Given the description of an element on the screen output the (x, y) to click on. 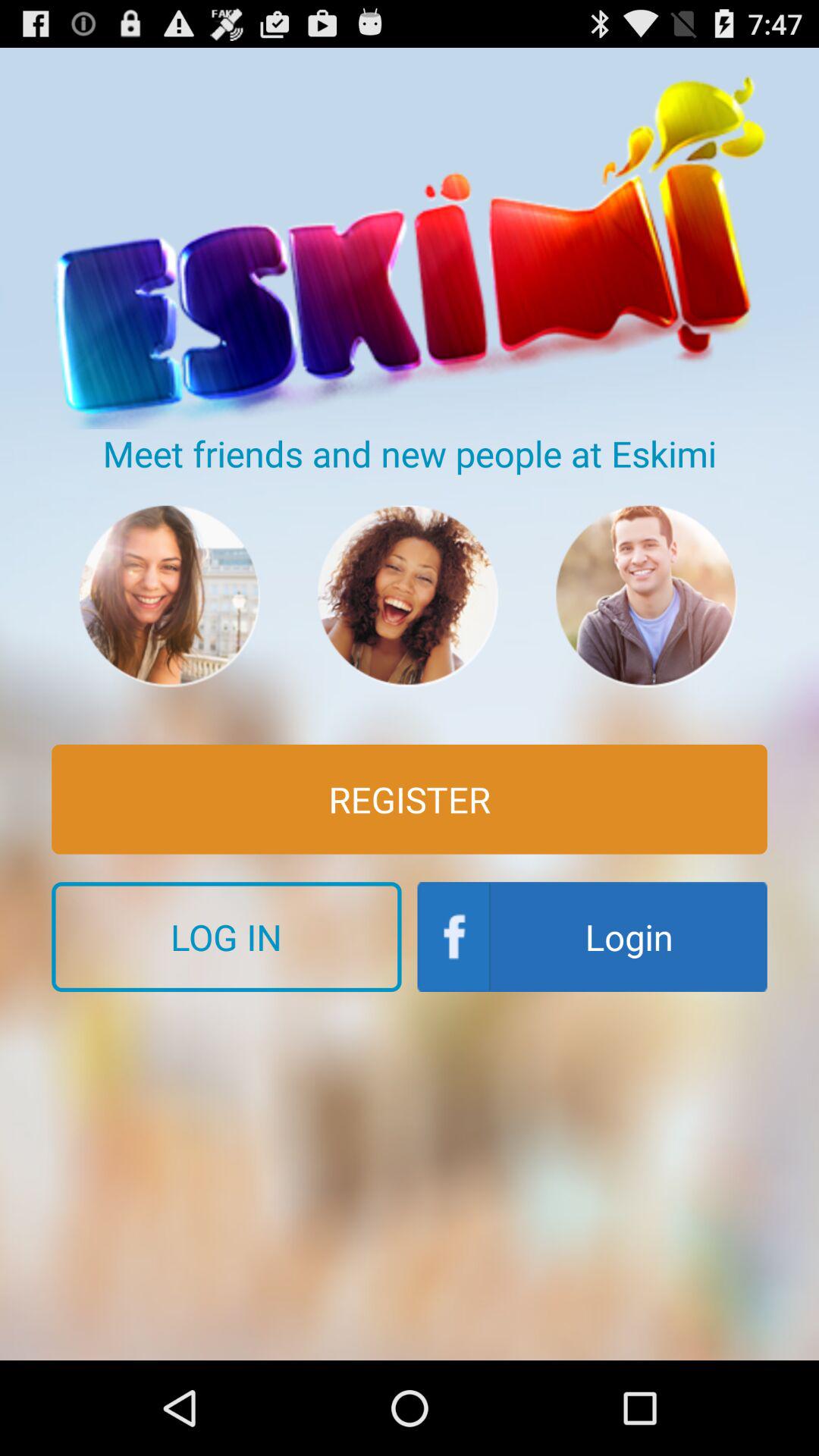
select login icon (592, 936)
